Given the description of an element on the screen output the (x, y) to click on. 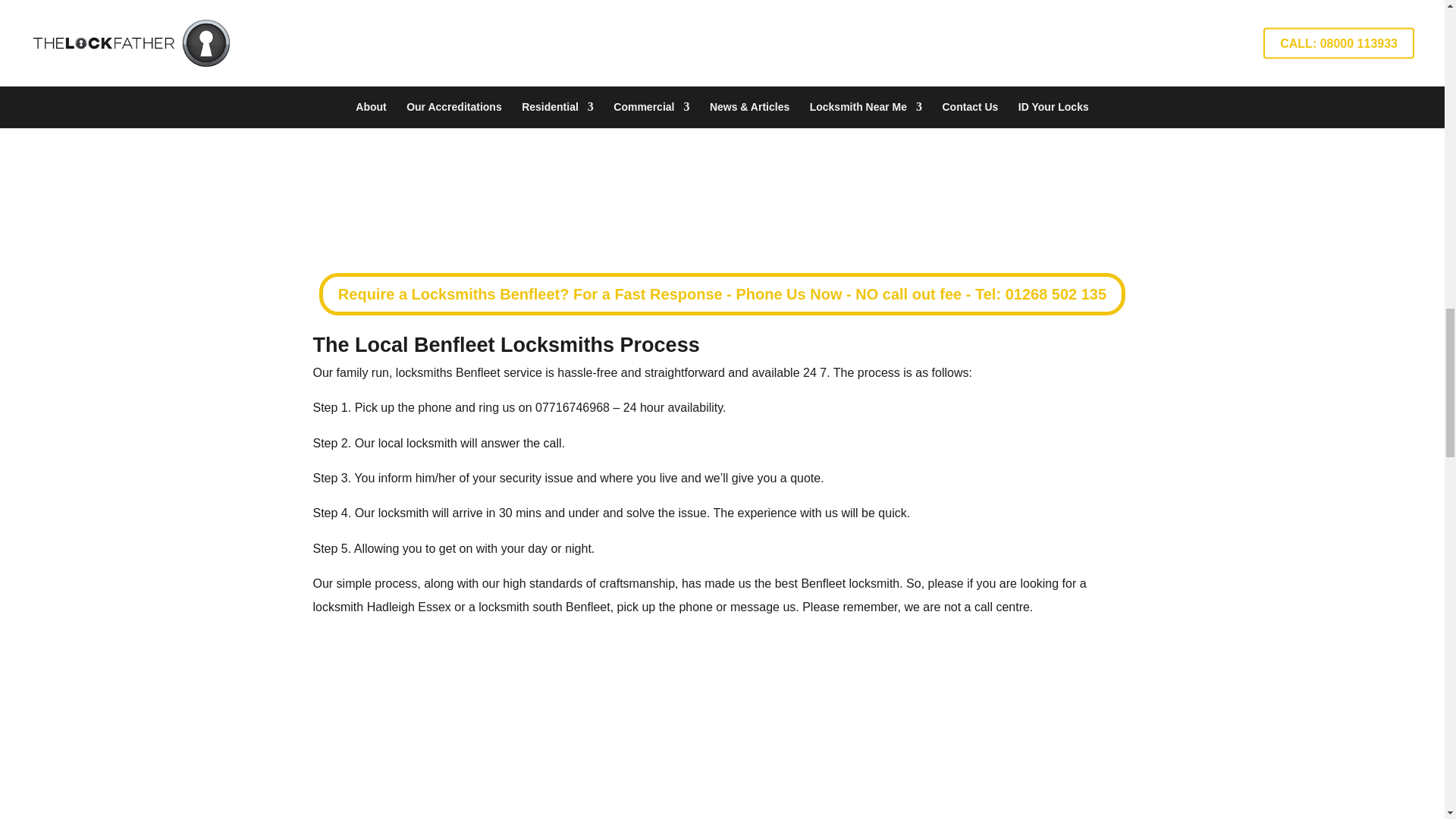
ick (369, 407)
local locksmith (417, 442)
